Given the description of an element on the screen output the (x, y) to click on. 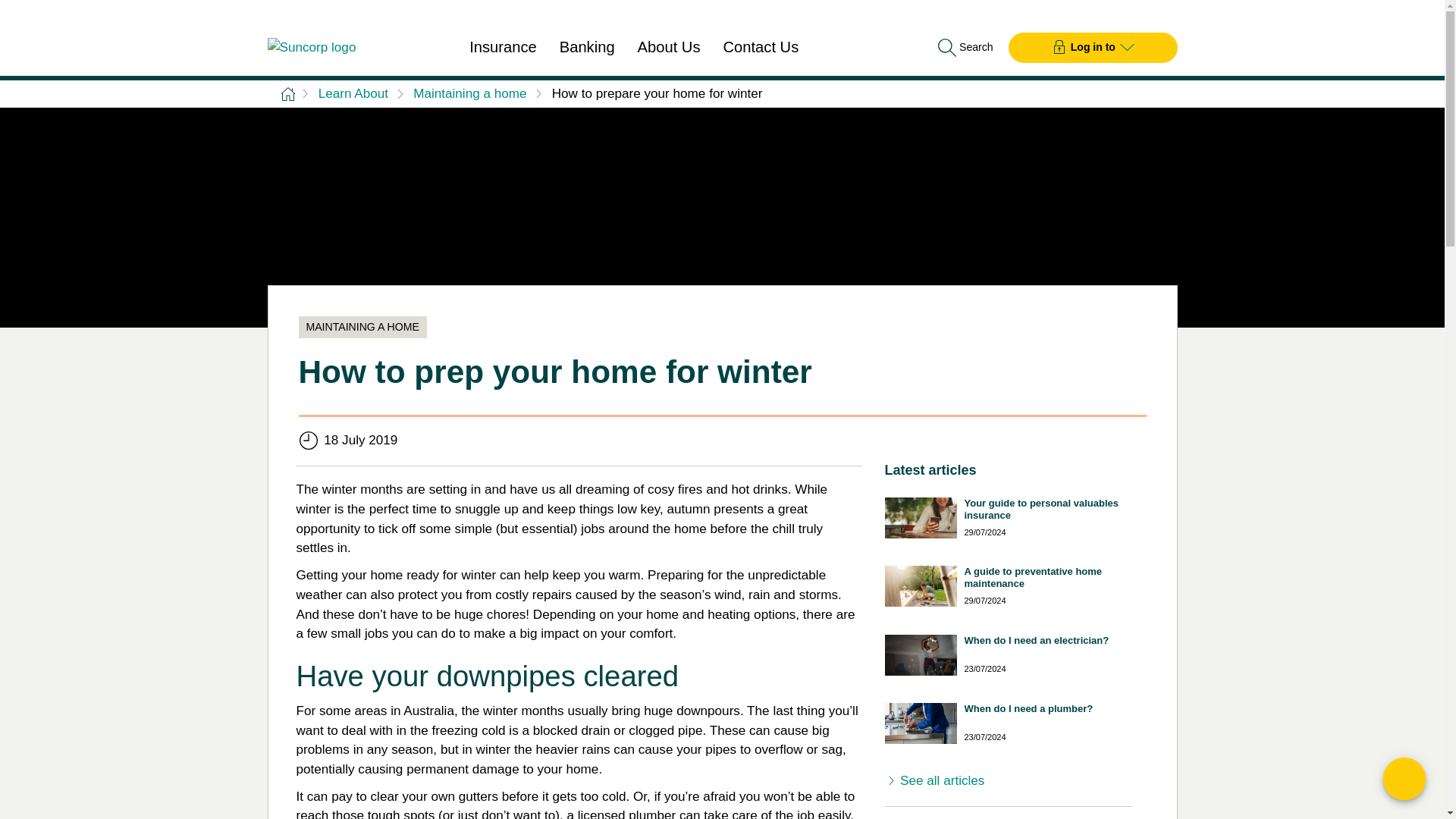
Contact Us (761, 48)
Insurance (502, 48)
Search (963, 46)
Banking (586, 48)
About Us (668, 48)
Log in to (1093, 46)
